Given the description of an element on the screen output the (x, y) to click on. 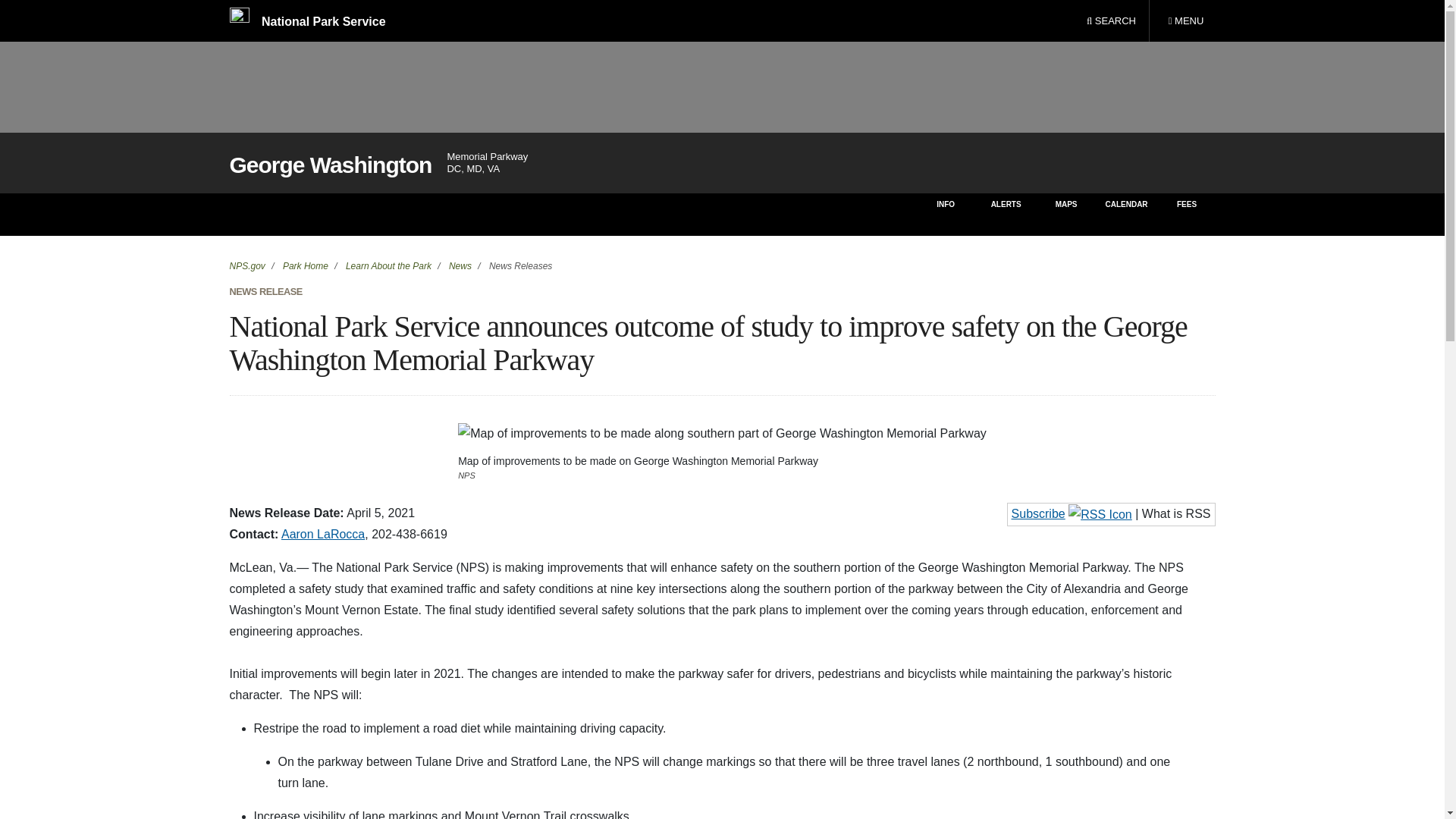
National Park Service (307, 20)
NPS.gov (246, 266)
CALENDAR (1125, 214)
SEARCH (1111, 20)
ALERTS (1004, 214)
Aaron LaRocca (323, 533)
What is RSS (1176, 513)
INFO (945, 214)
Subscribe (1185, 20)
FEES (1038, 513)
Southern Parkway Road Diet Map (1186, 214)
MAPS (722, 433)
News (1066, 214)
George Washington (458, 266)
